Given the description of an element on the screen output the (x, y) to click on. 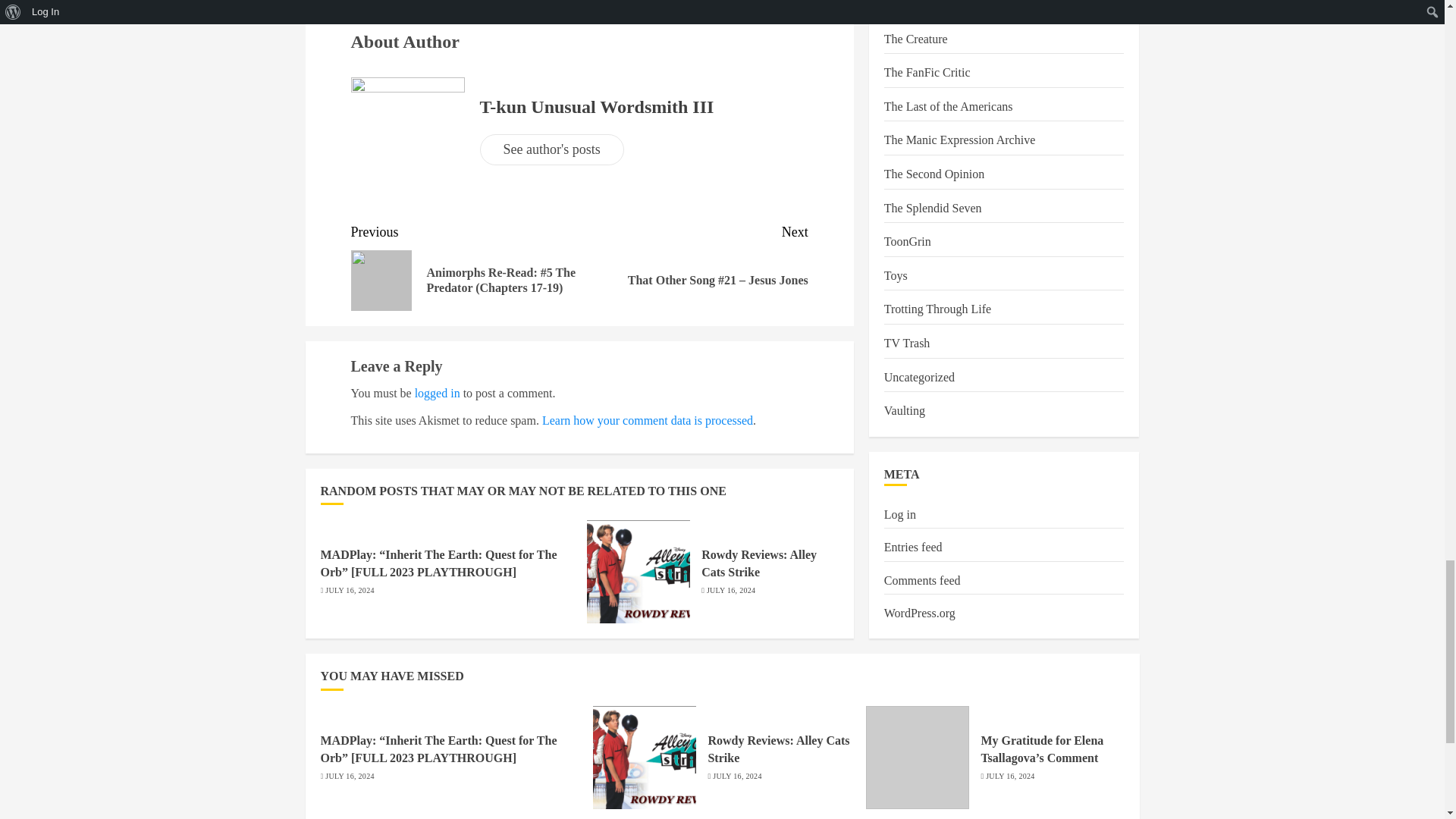
facebook (399, 11)
